Given the description of an element on the screen output the (x, y) to click on. 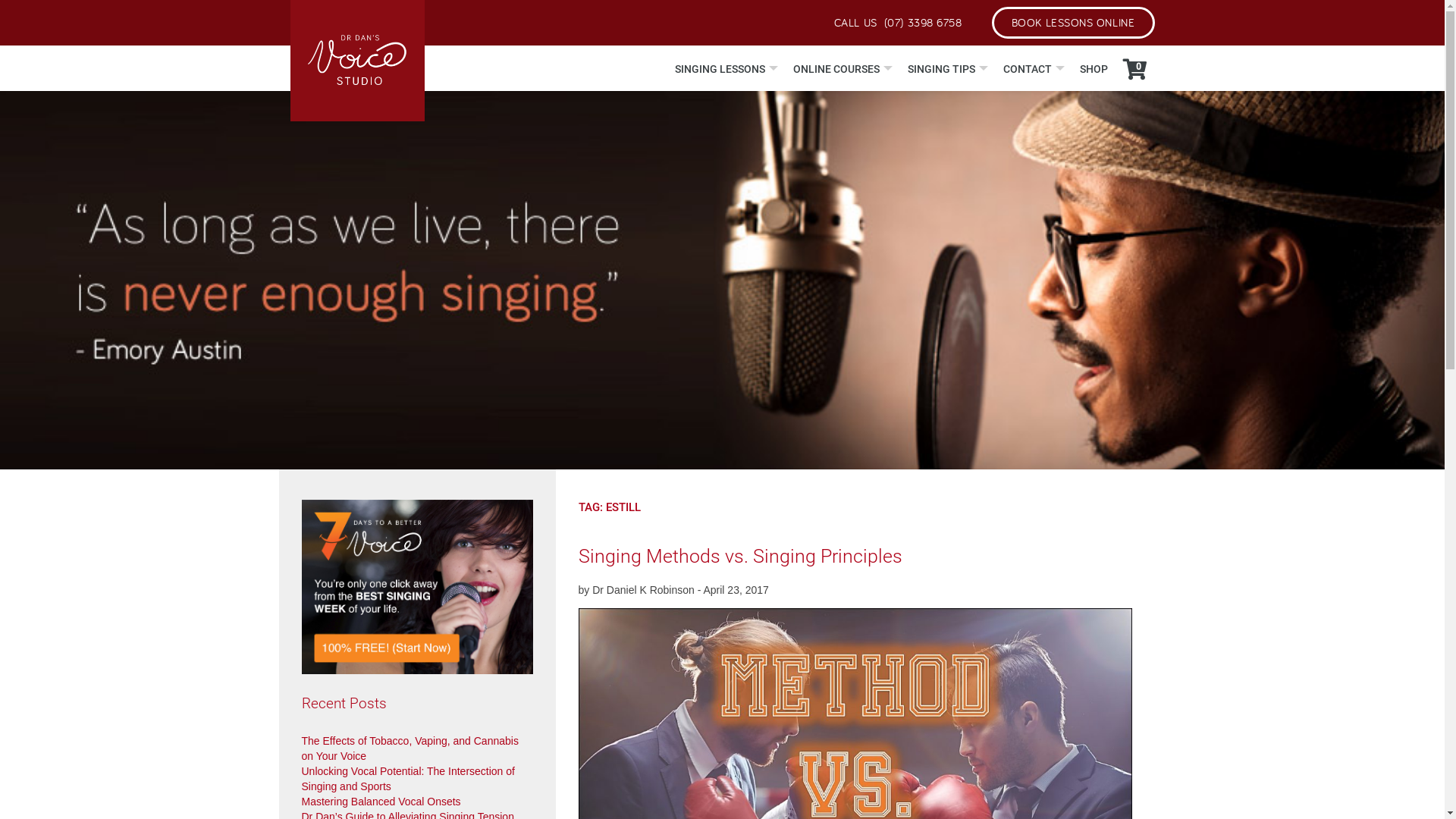
7 Days to a Better Voice Element type: hover (417, 586)
ONLINE COURSES Element type: text (842, 68)
Mastering Balanced Vocal Onsets Element type: text (381, 801)
Singing Methods vs. Singing Principles Element type: text (739, 556)
0 Element type: text (1134, 69)
SHOP Element type: text (1093, 68)
The Effects of Tobacco, Vaping, and Cannabis on Your Voice Element type: text (409, 748)
CONTACT Element type: text (1032, 68)
SINGING TIPS Element type: text (946, 68)
SINGING LESSONS Element type: text (726, 68)
